Given the description of an element on the screen output the (x, y) to click on. 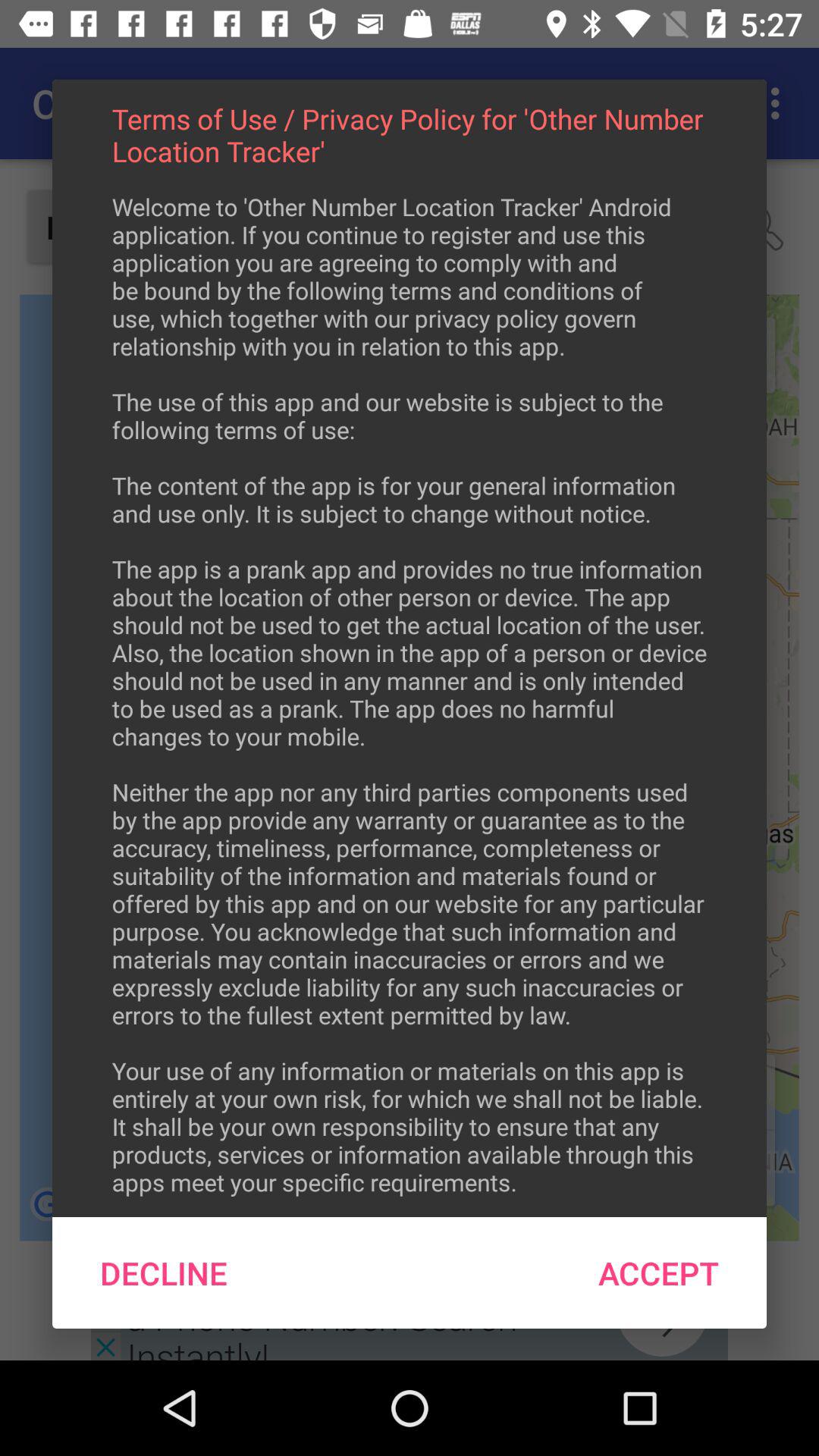
launch the item below welcome to other icon (163, 1272)
